Given the description of an element on the screen output the (x, y) to click on. 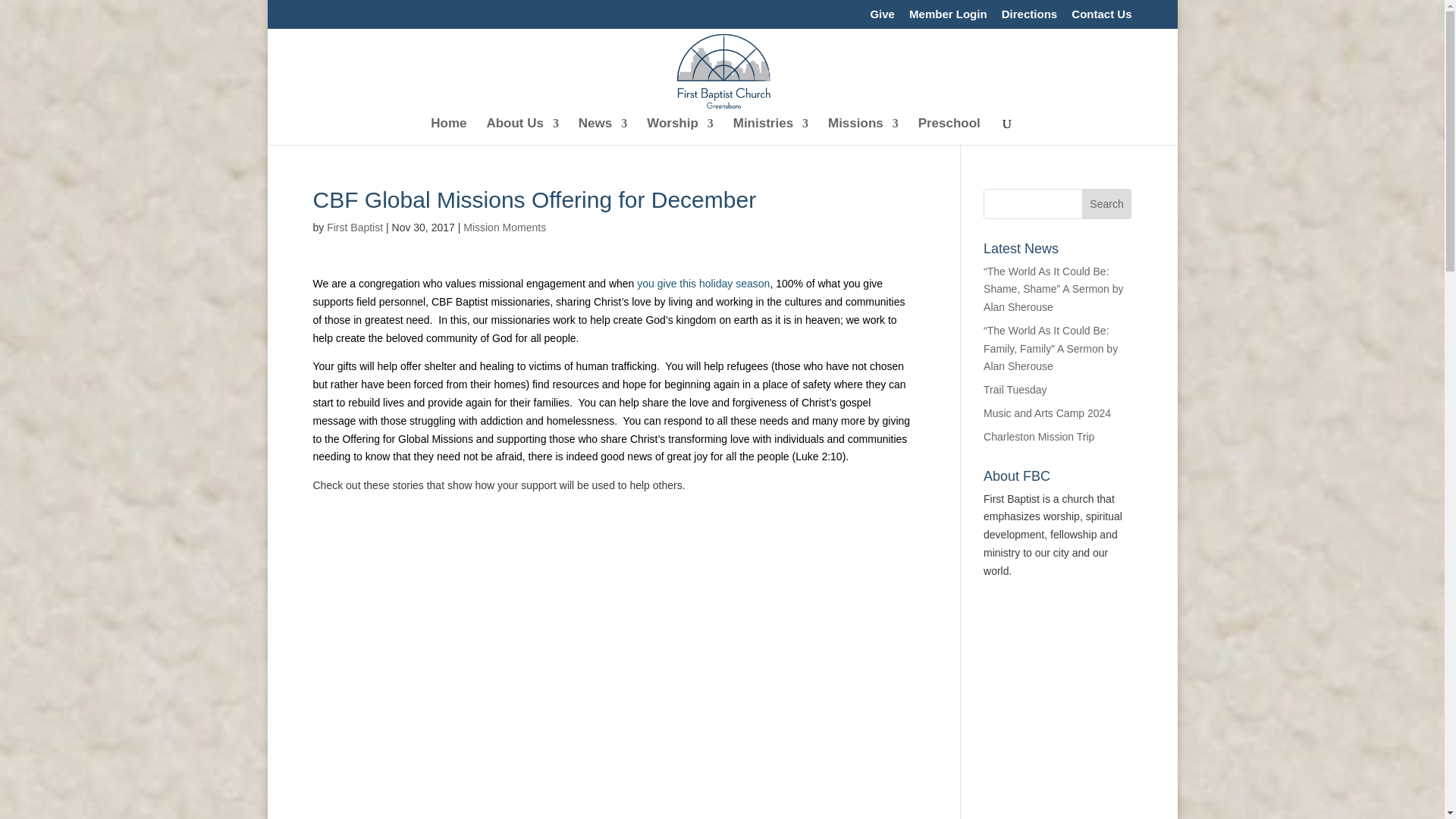
Contact Us (1101, 17)
Ministries (770, 130)
Worship (679, 130)
About Us (522, 130)
Give (882, 17)
Home (447, 130)
Missions (863, 130)
Posts by First Baptist (354, 227)
News (602, 130)
Search (1106, 203)
Member Login (947, 17)
Preschool (948, 130)
Directions (1029, 17)
